Given the description of an element on the screen output the (x, y) to click on. 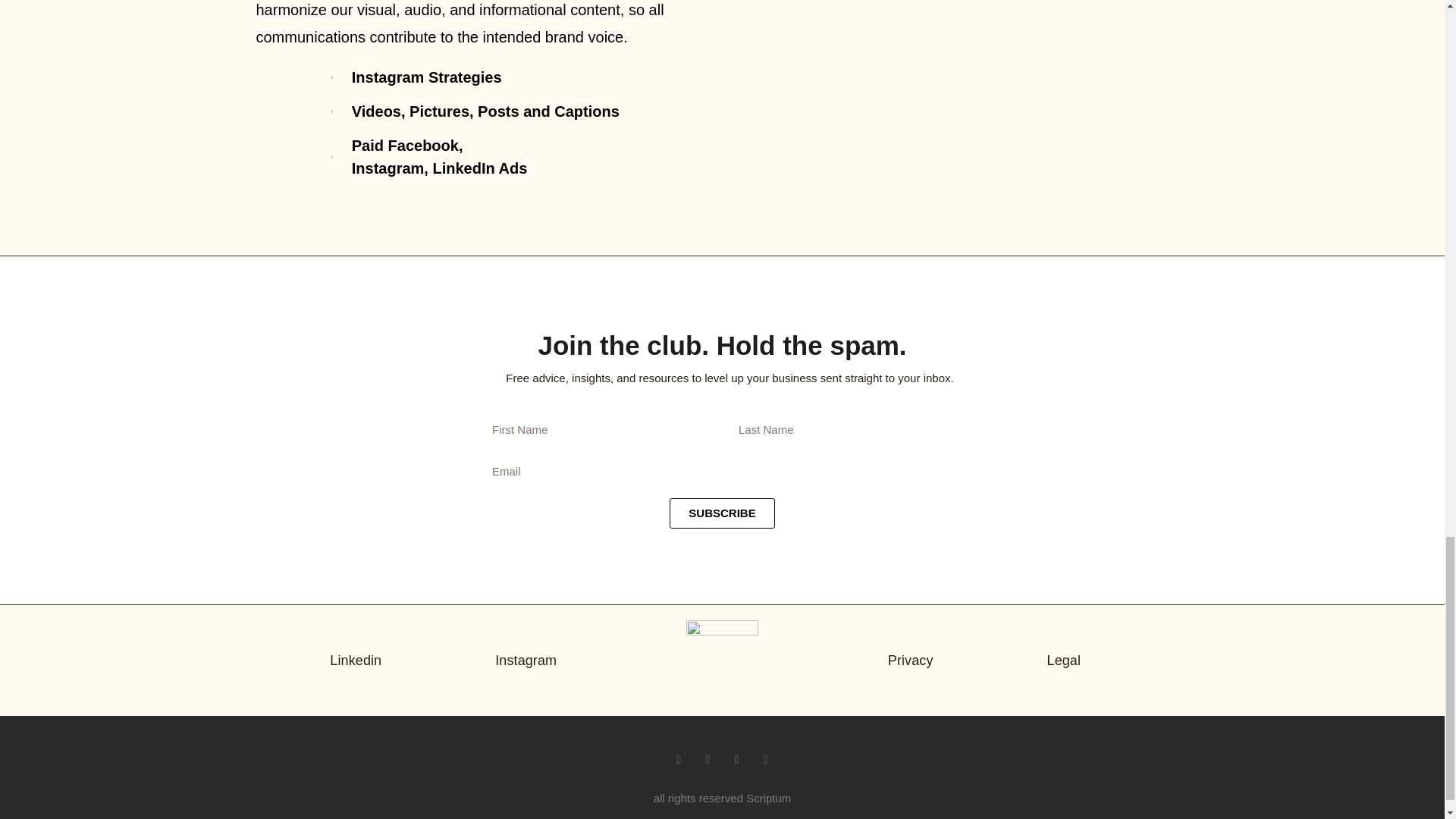
Instagram (525, 660)
Privacy (910, 660)
Legal (1063, 660)
Linkedin (355, 660)
SUBSCRIBE (721, 512)
